Given the description of an element on the screen output the (x, y) to click on. 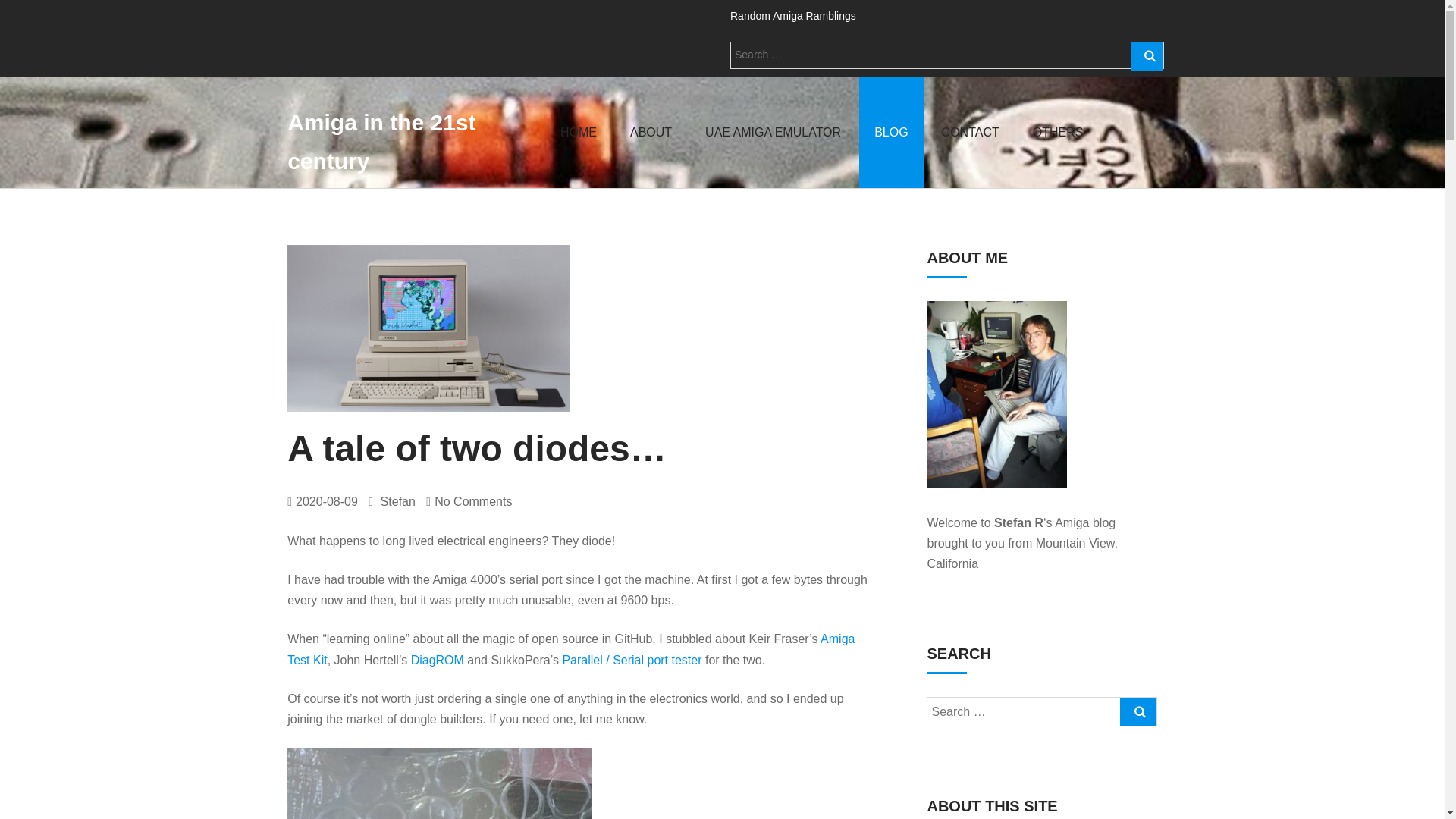
Search (1137, 711)
UAE AMIGA EMULATOR (773, 132)
Search (1147, 56)
Search (1147, 56)
Search (1132, 128)
DiagROM (437, 659)
Stefan (391, 501)
Search (1147, 56)
Search (1137, 711)
No Comments (472, 501)
